Given the description of an element on the screen output the (x, y) to click on. 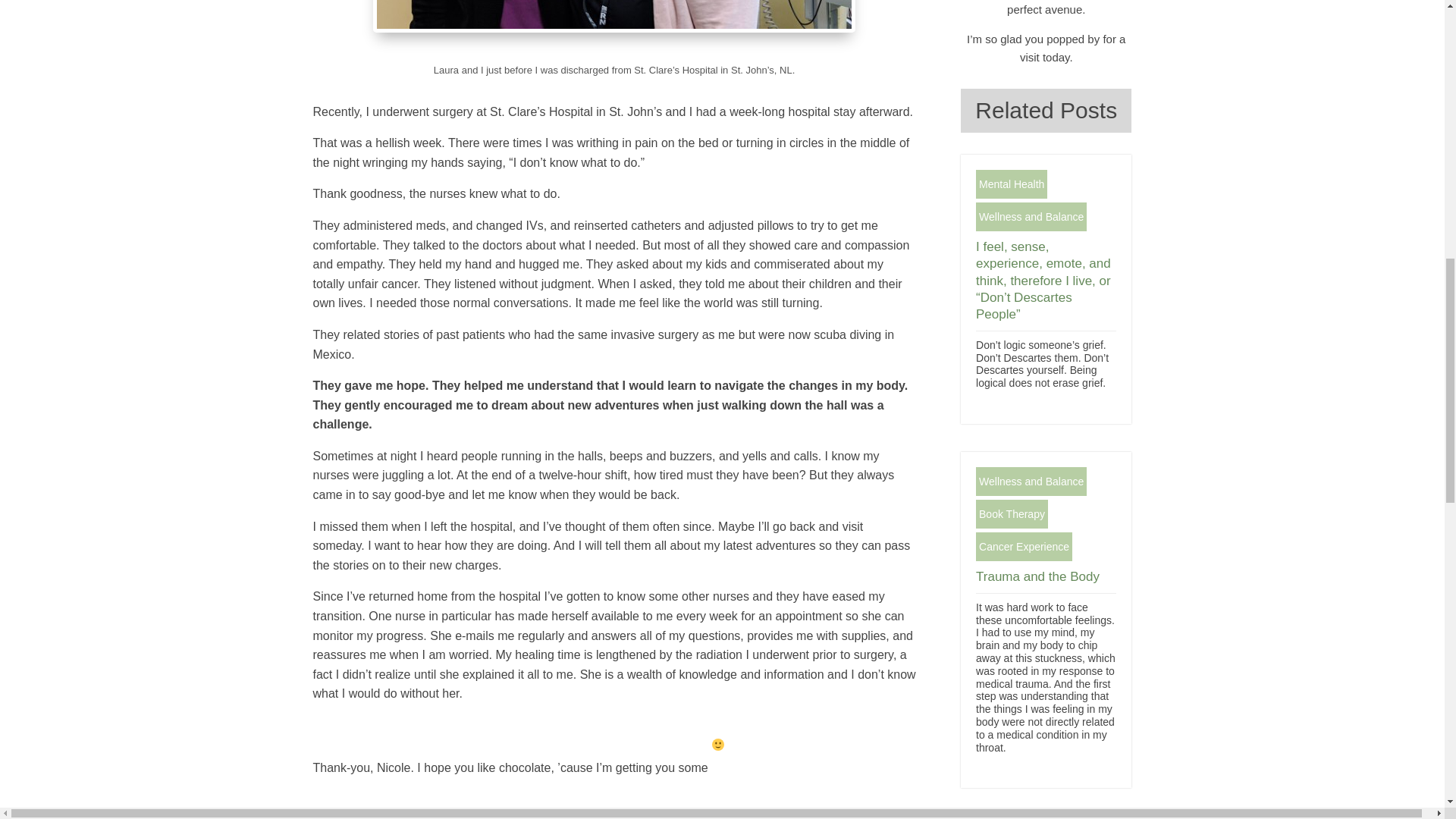
Book Therapy (1011, 513)
Trauma and the Body (1037, 576)
Cancer Experience (1023, 546)
Mental Health (1010, 184)
Wellness and Balance (1030, 216)
Wellness and Balance (1030, 481)
